Given the description of an element on the screen output the (x, y) to click on. 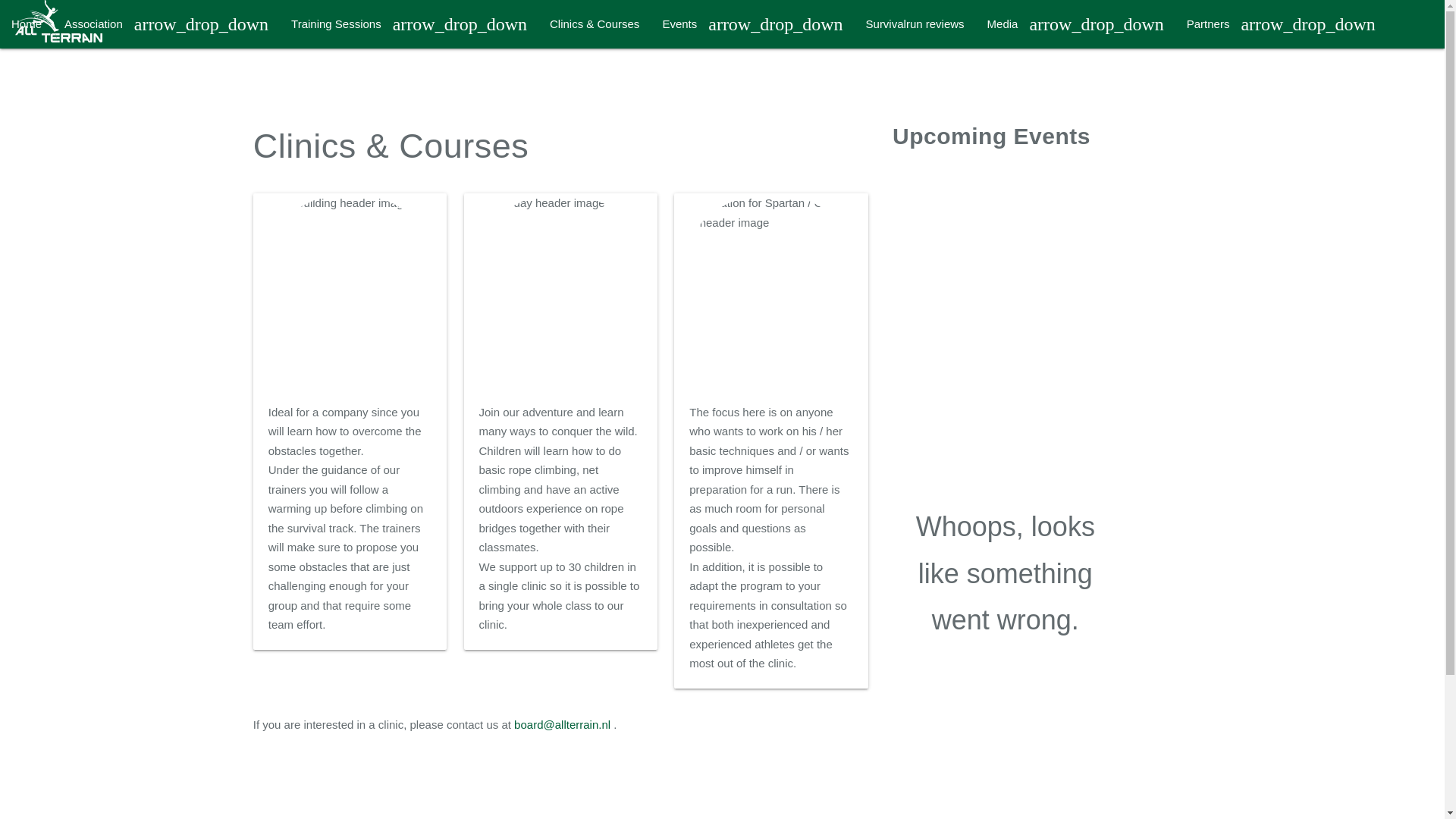
Home (26, 24)
Contact (31, 72)
Survivalrun reviews (914, 24)
